Given the description of an element on the screen output the (x, y) to click on. 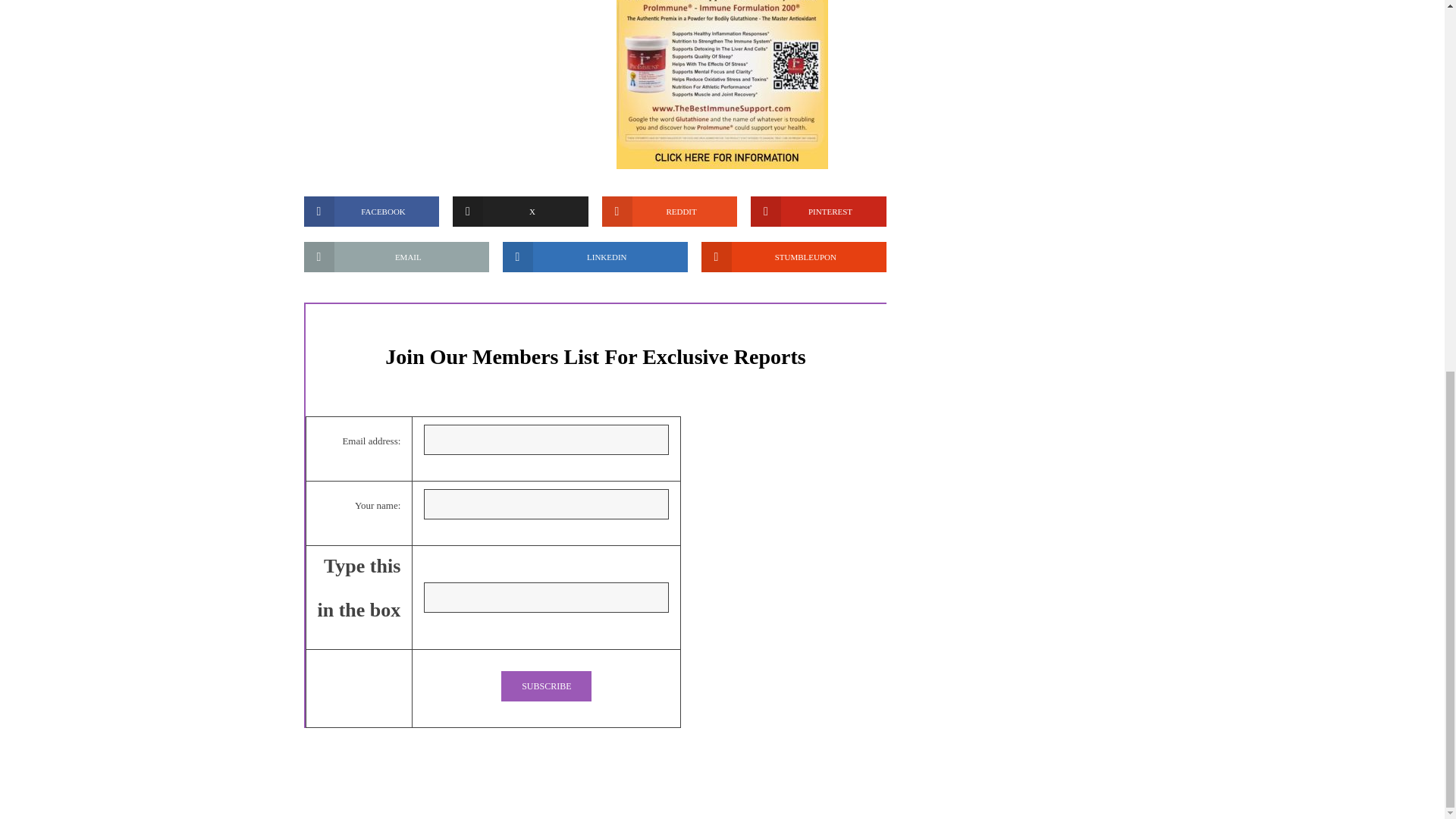
EMAIL (394, 256)
FACEBOOK (370, 211)
STUMBLEUPON (792, 256)
X (520, 211)
REDDIT (670, 211)
LINKEDIN (594, 256)
Subscribe (545, 685)
PINTEREST (818, 211)
